Given the description of an element on the screen output the (x, y) to click on. 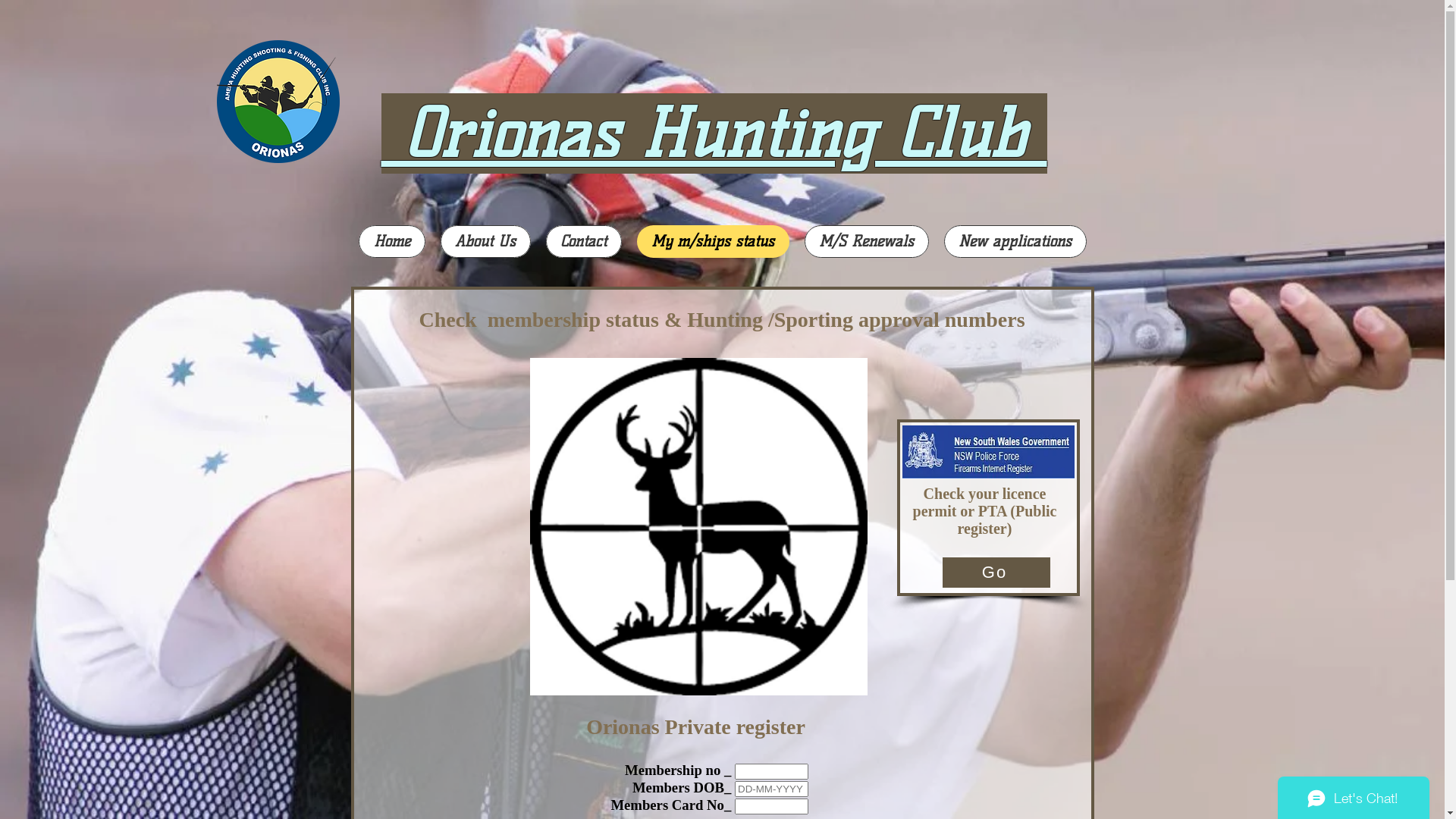
Contact Element type: text (583, 241)
Home Element type: text (390, 241)
My m/ships status Element type: text (713, 241)
Go Element type: text (995, 572)
M/S Renewals Element type: text (865, 241)
New applications Element type: text (1014, 241)
About Us Element type: text (484, 241)
